Given the description of an element on the screen output the (x, y) to click on. 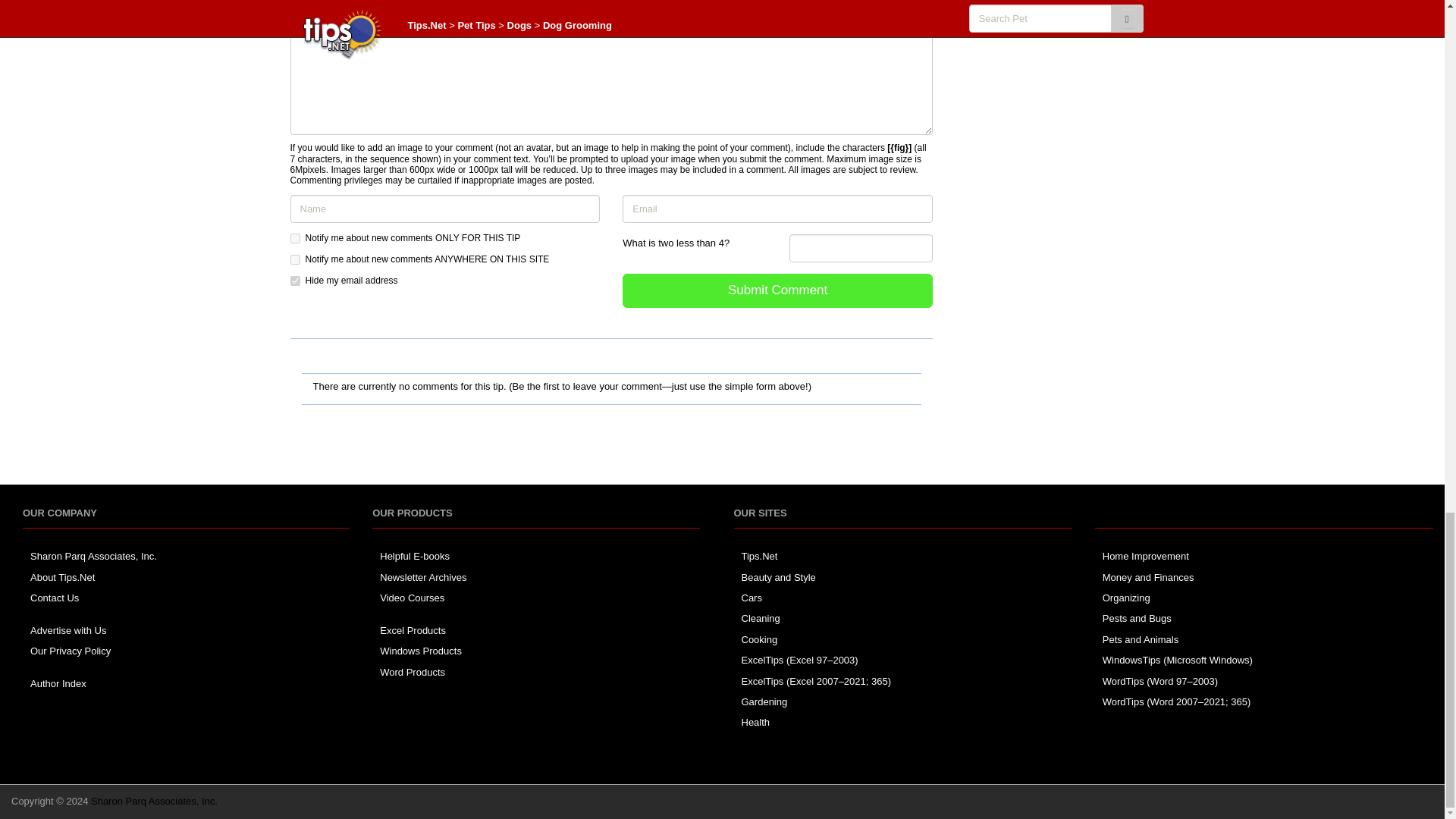
Advertise with Us (68, 630)
Tips.Net (759, 555)
Cooking (759, 639)
option3 (294, 280)
Beauty and Style (778, 577)
Helpful E-books (414, 555)
Author Index (57, 683)
Our Privacy Policy (70, 650)
Sharon Parq Associates, Inc. (93, 555)
Cleaning (760, 618)
About Tips.Net (62, 577)
Contact Us (54, 597)
Word Products (412, 672)
Excel Products (412, 630)
Newsletter Archives (422, 577)
